Given the description of an element on the screen output the (x, y) to click on. 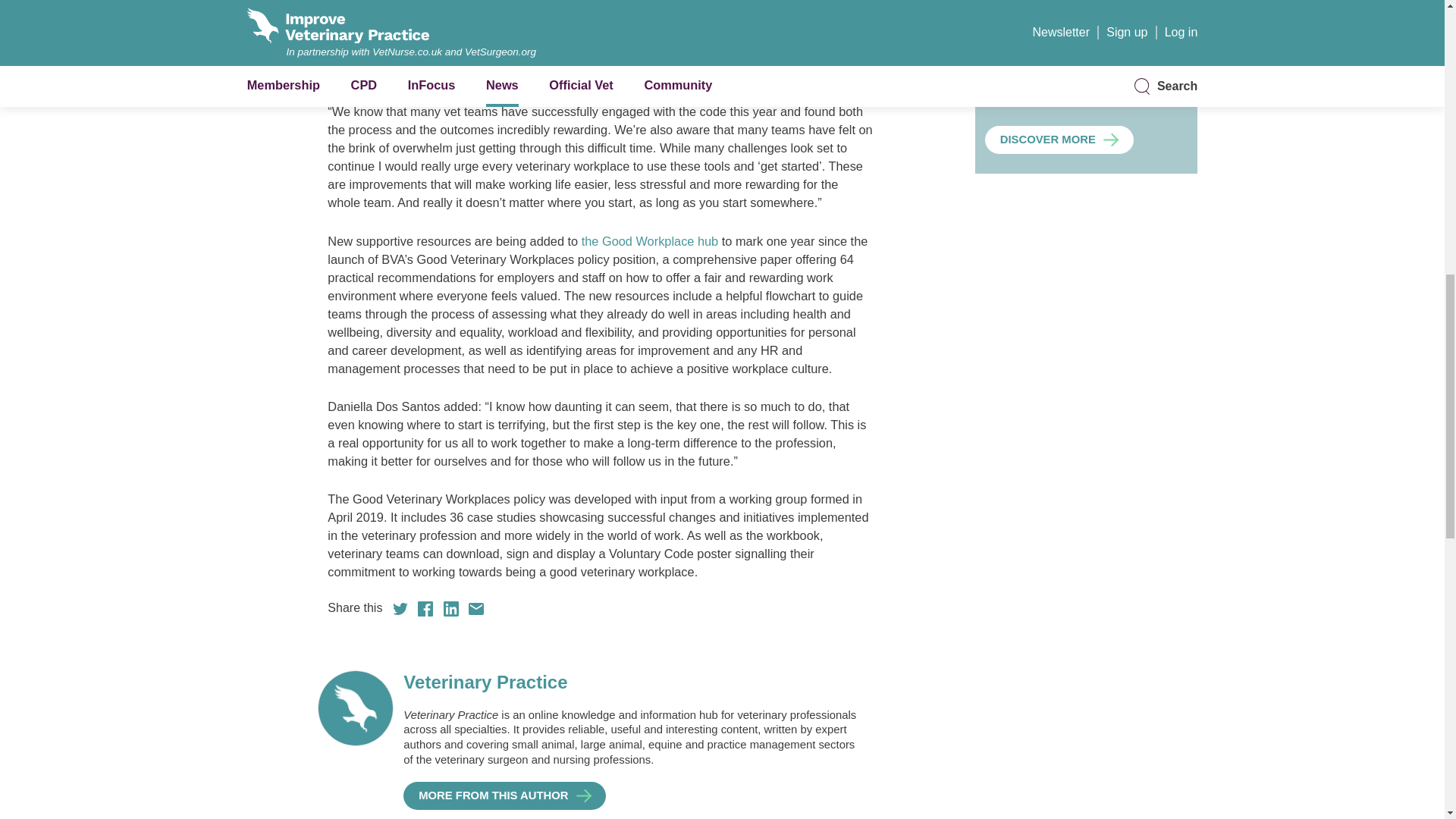
Share via Email (475, 608)
Veterinary Practice (633, 682)
MORE FROM THIS AUTHOR (504, 795)
Share on Facebook (424, 608)
Share on Twitter (400, 608)
the Good Workplace hub (647, 241)
Veterinary Practice (504, 795)
Share on LinkedIn (451, 608)
Veterinary Practice (633, 682)
